Given the description of an element on the screen output the (x, y) to click on. 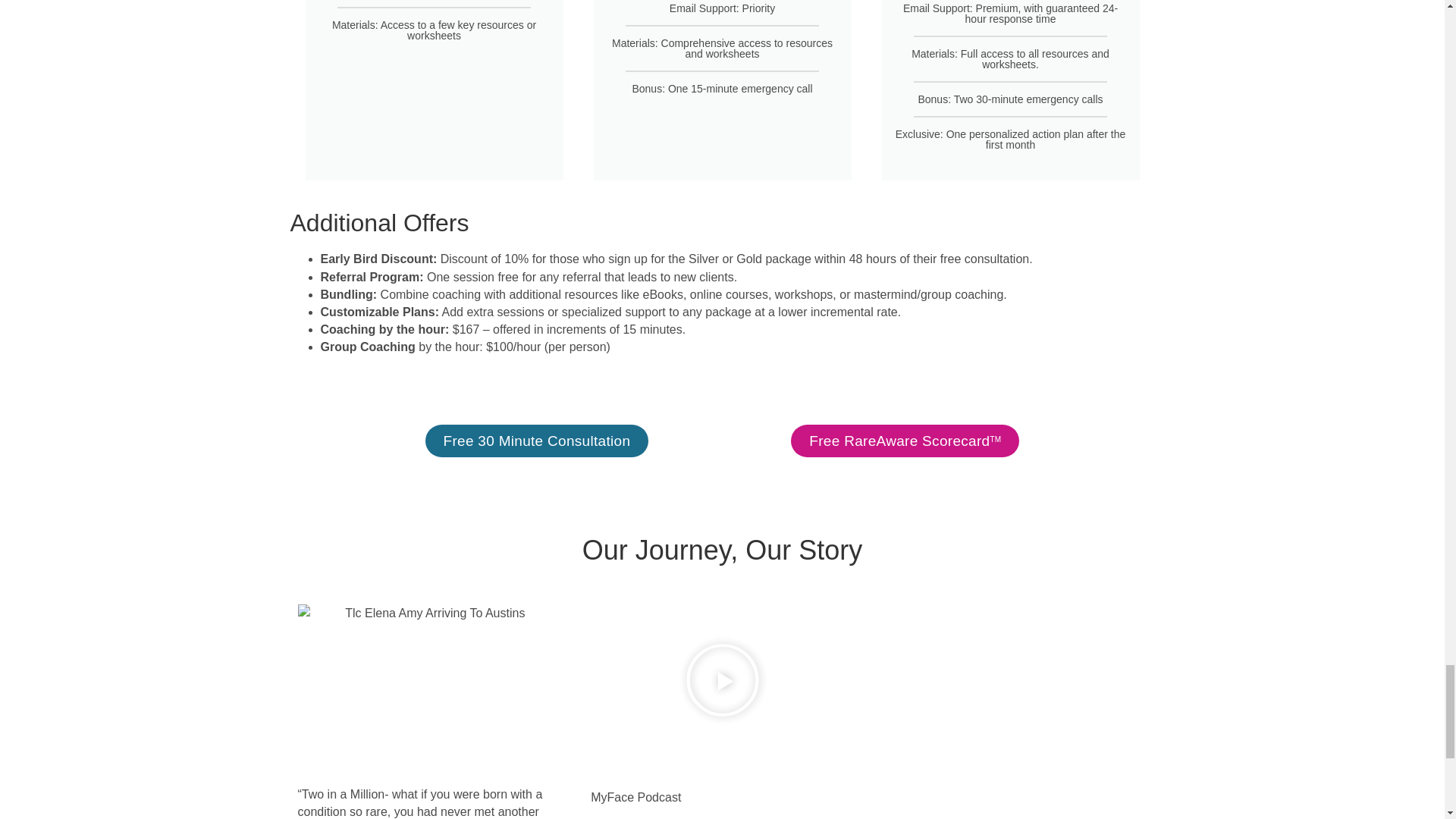
Free 30 Minute Consultation (536, 441)
Free RareAware ScorecardTM (904, 441)
